Given the description of an element on the screen output the (x, y) to click on. 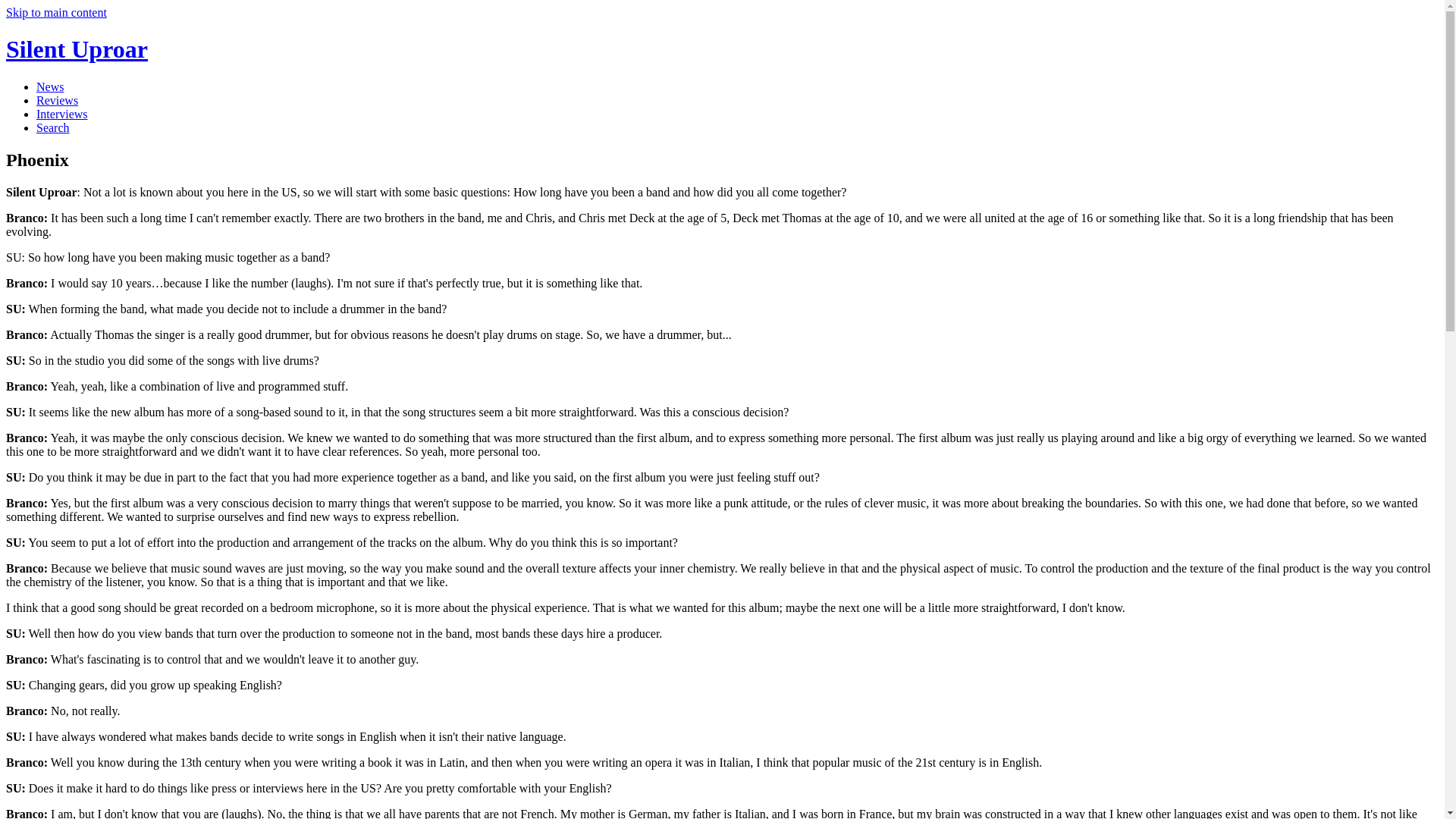
Silent Uproar (76, 49)
Search (52, 127)
Interviews (61, 113)
Reviews (57, 100)
Skip to main content (55, 11)
News (50, 86)
